Given the description of an element on the screen output the (x, y) to click on. 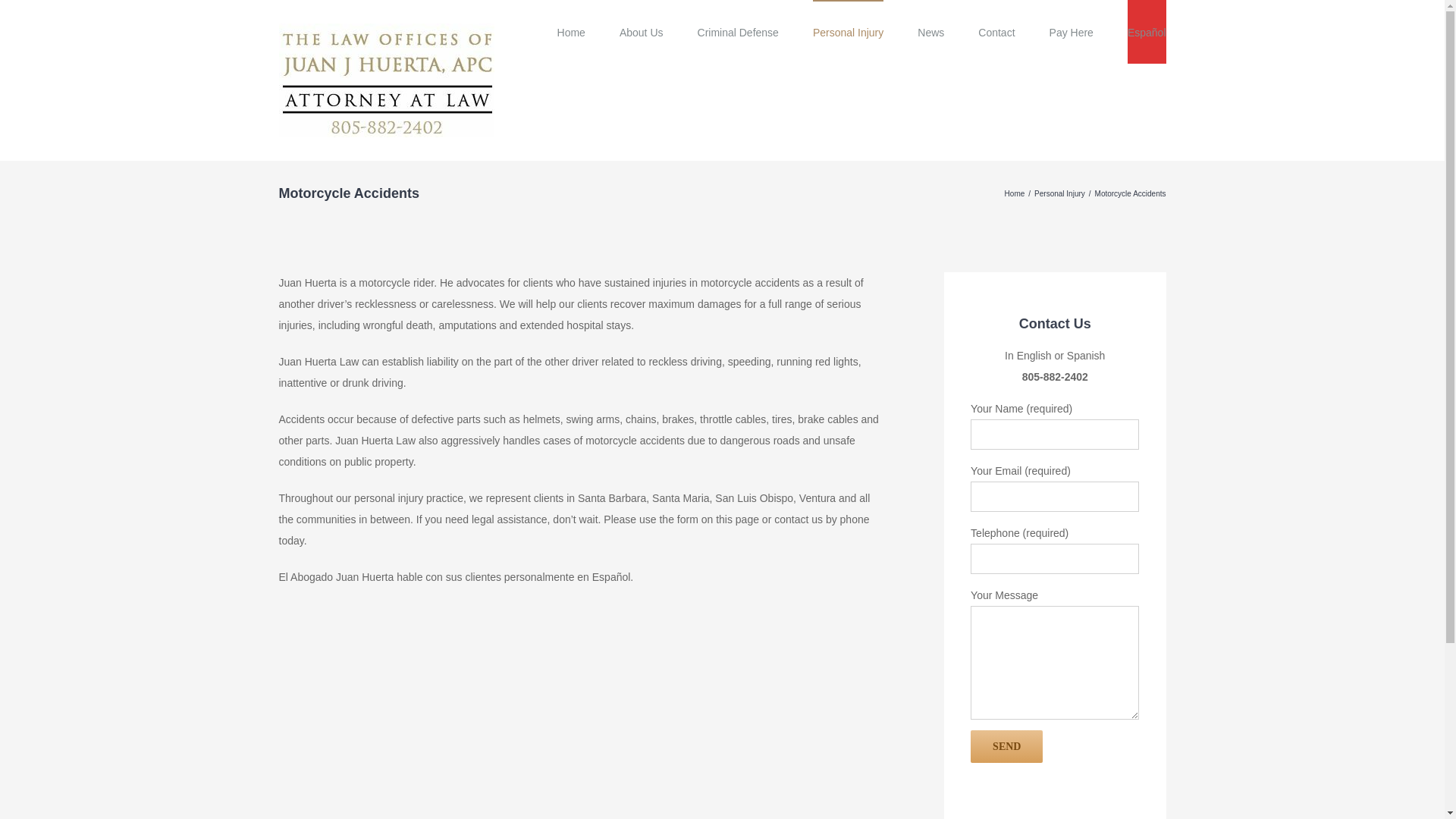
Personal Injury (847, 31)
Send (1006, 746)
Criminal Defense (737, 31)
